Given the description of an element on the screen output the (x, y) to click on. 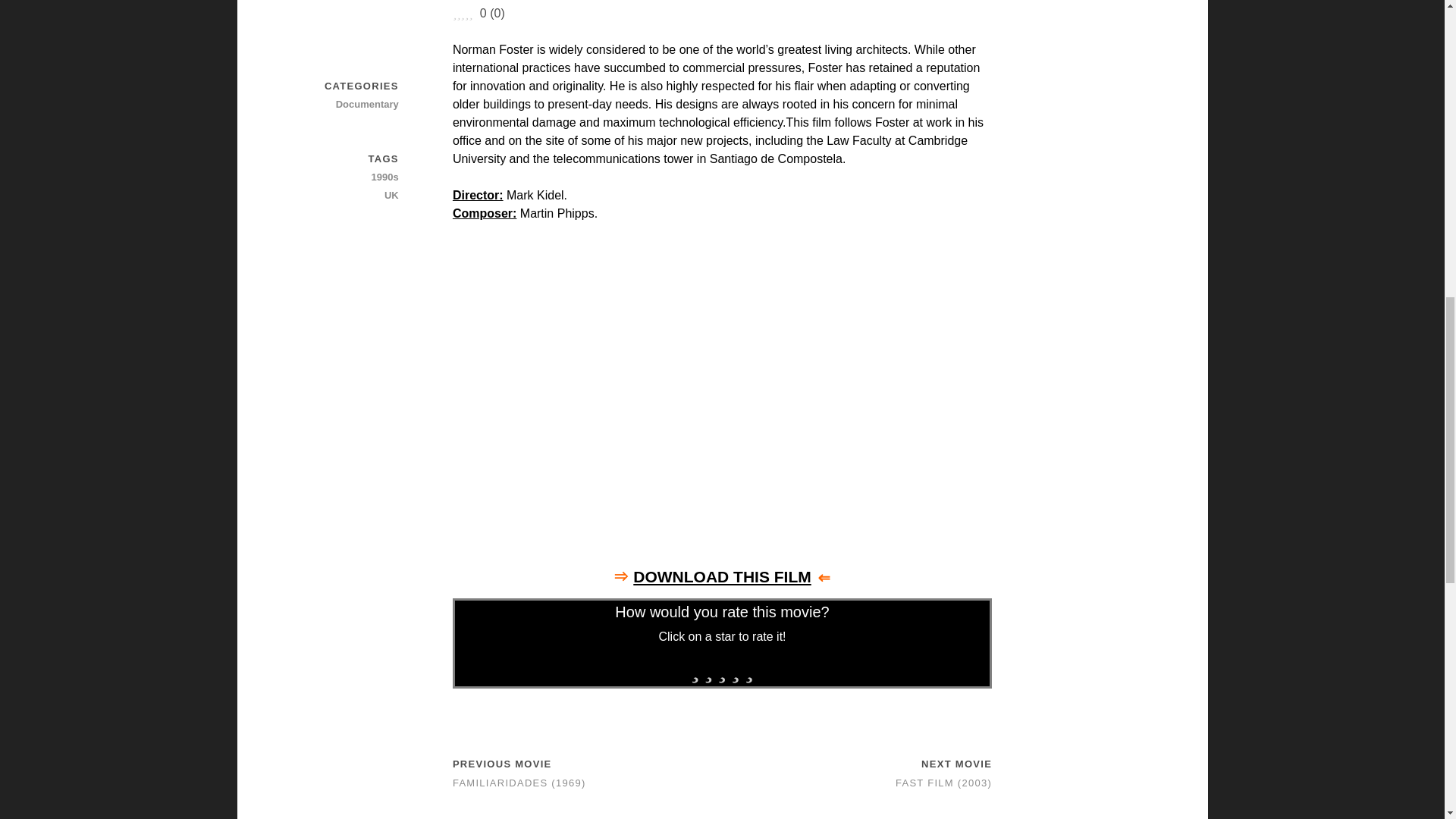
1990s (344, 177)
View all posts in Documentary (344, 104)
Documentary (344, 104)
UK (344, 195)
DOWNLOAD THIS FILM (721, 576)
View all posts tagged UK (344, 195)
View all posts tagged 1990s (344, 177)
